Given the description of an element on the screen output the (x, y) to click on. 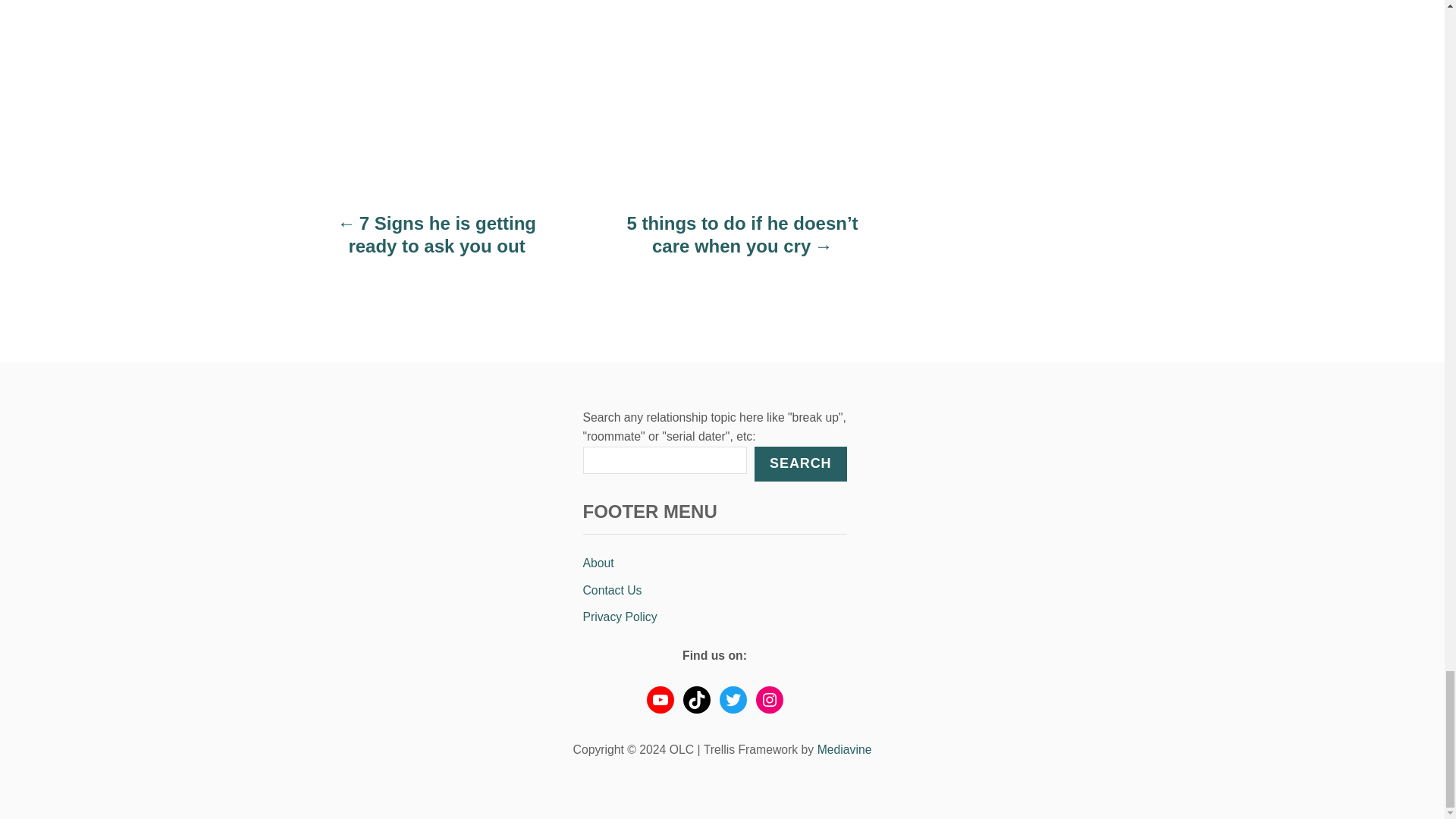
Privacy Policy (713, 616)
7 Signs he is getting ready to ask you out (437, 242)
TikTok (696, 699)
Mediavine (844, 748)
Contact Us (713, 590)
Instagram (769, 699)
YouTube (659, 699)
About (713, 563)
SEARCH (799, 463)
Twitter (732, 699)
